Given the description of an element on the screen output the (x, y) to click on. 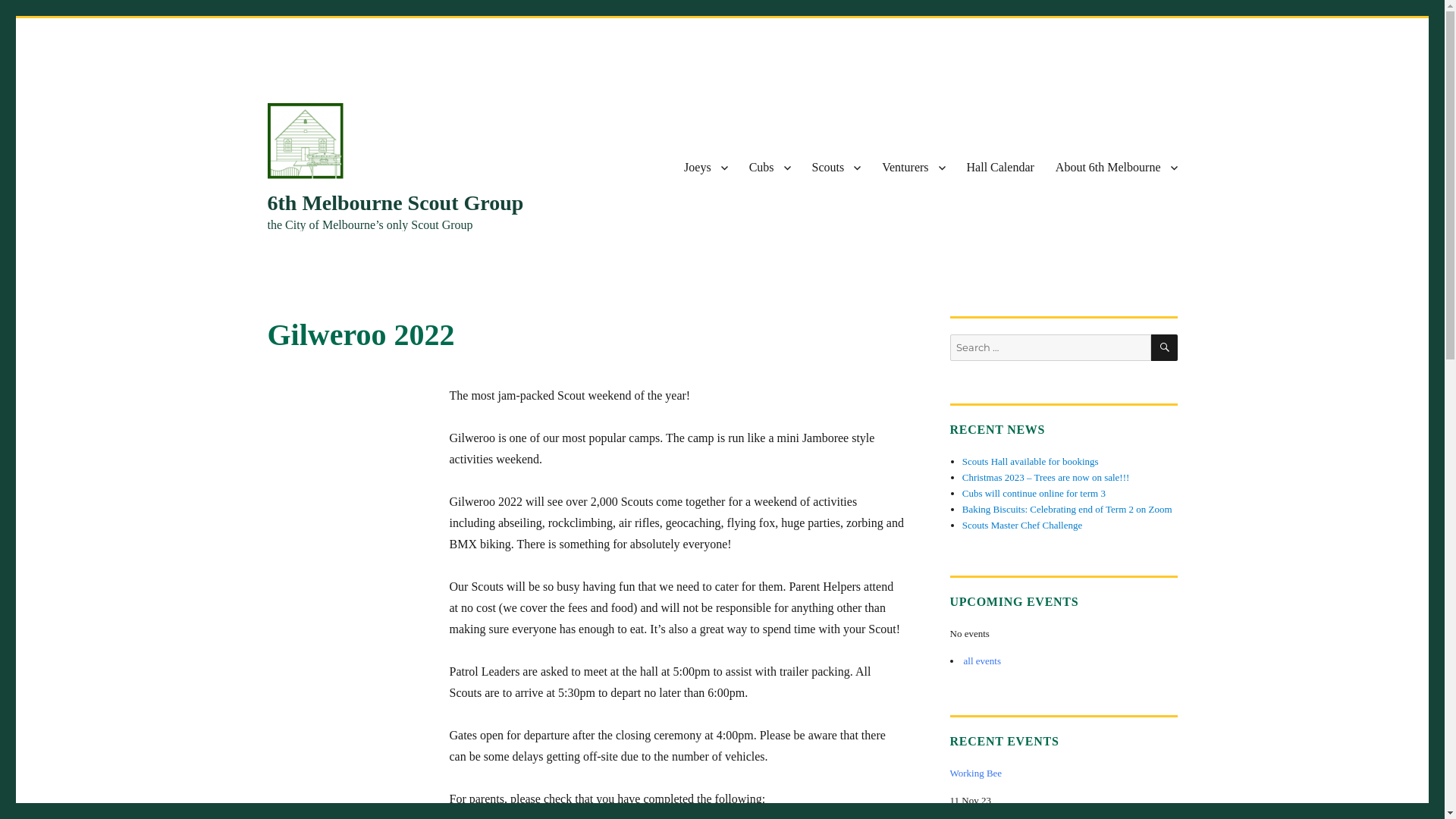
6th Melbourne Scout Group Element type: text (394, 202)
About 6th Melbourne Element type: text (1116, 167)
Venturers Element type: text (913, 167)
Joeys Element type: text (705, 167)
Hall Calendar Element type: text (1000, 167)
Scouts Master Chef Challenge Element type: text (1022, 524)
Scouts Hall available for bookings Element type: text (1030, 461)
Working Bee Element type: text (1062, 773)
all events Element type: text (981, 660)
Cubs Element type: text (769, 167)
Cubs will continue online for term 3 Element type: text (1033, 492)
Scouts Element type: text (836, 167)
Baking Biscuits: Celebrating end of Term 2 on Zoom Element type: text (1067, 508)
SEARCH Element type: text (1164, 347)
